Given the description of an element on the screen output the (x, y) to click on. 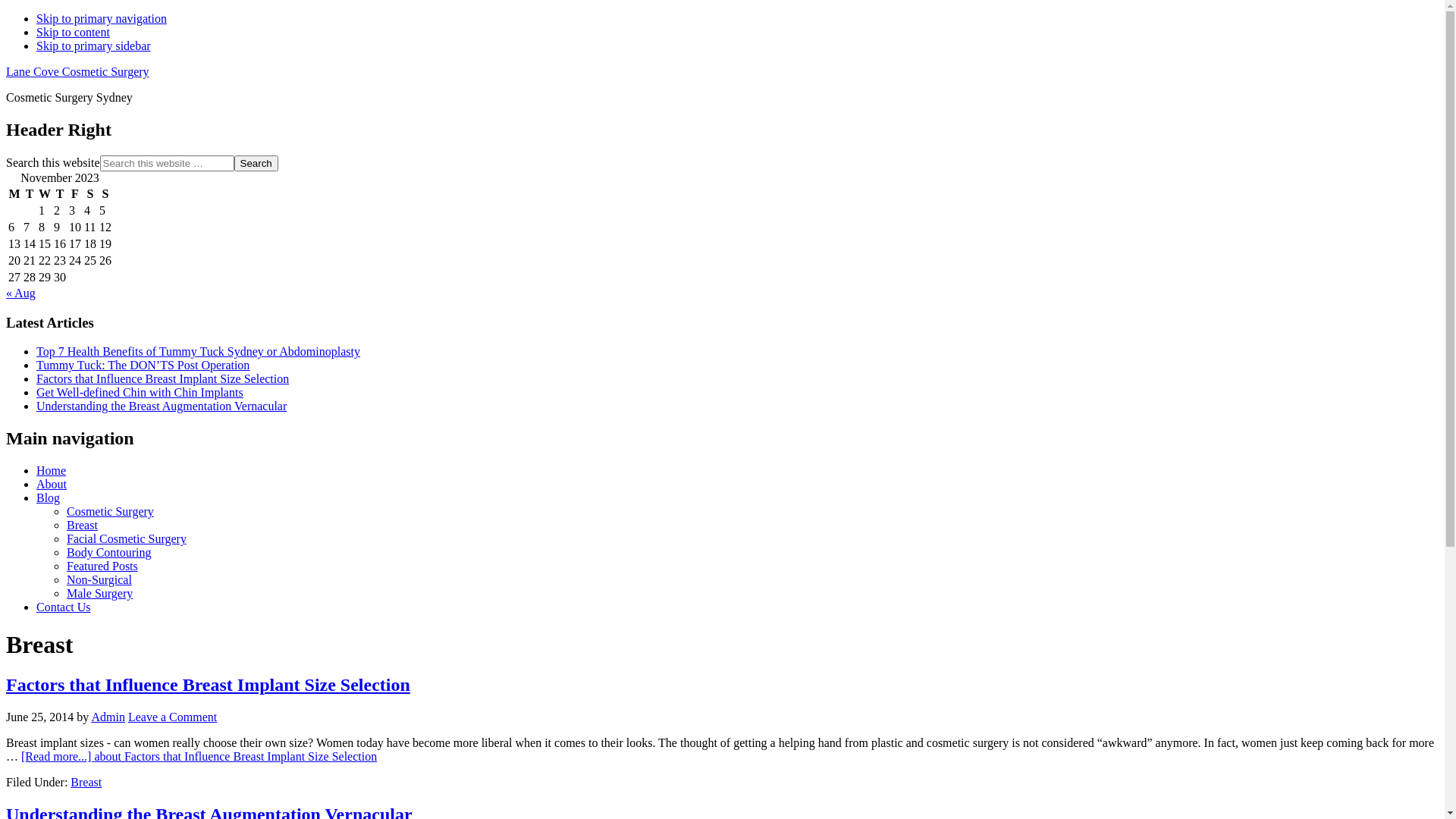
Search Element type: text (256, 163)
Breast Element type: text (85, 781)
Blog Element type: text (47, 497)
Featured Posts Element type: text (102, 565)
Get Well-defined Chin with Chin Implants Element type: text (139, 391)
Lane Cove Cosmetic Surgery Element type: text (77, 71)
Male Surgery Element type: text (99, 592)
Breast Element type: text (81, 524)
Contact Us Element type: text (63, 606)
Body Contouring Element type: text (108, 552)
Admin Element type: text (107, 716)
Home Element type: text (50, 470)
Skip to content Element type: text (72, 31)
Understanding the Breast Augmentation Vernacular Element type: text (161, 405)
Top 7 Health Benefits of Tummy Tuck Sydney or Abdominoplasty Element type: text (198, 351)
Non-Surgical Element type: text (98, 579)
Cosmetic Surgery Element type: text (109, 511)
Facial Cosmetic Surgery Element type: text (126, 538)
Factors that Influence Breast Implant Size Selection Element type: text (162, 378)
Skip to primary sidebar Element type: text (93, 45)
About Element type: text (51, 483)
Factors that Influence Breast Implant Size Selection Element type: text (208, 684)
Leave a Comment Element type: text (172, 716)
Skip to primary navigation Element type: text (101, 18)
